Given the description of an element on the screen output the (x, y) to click on. 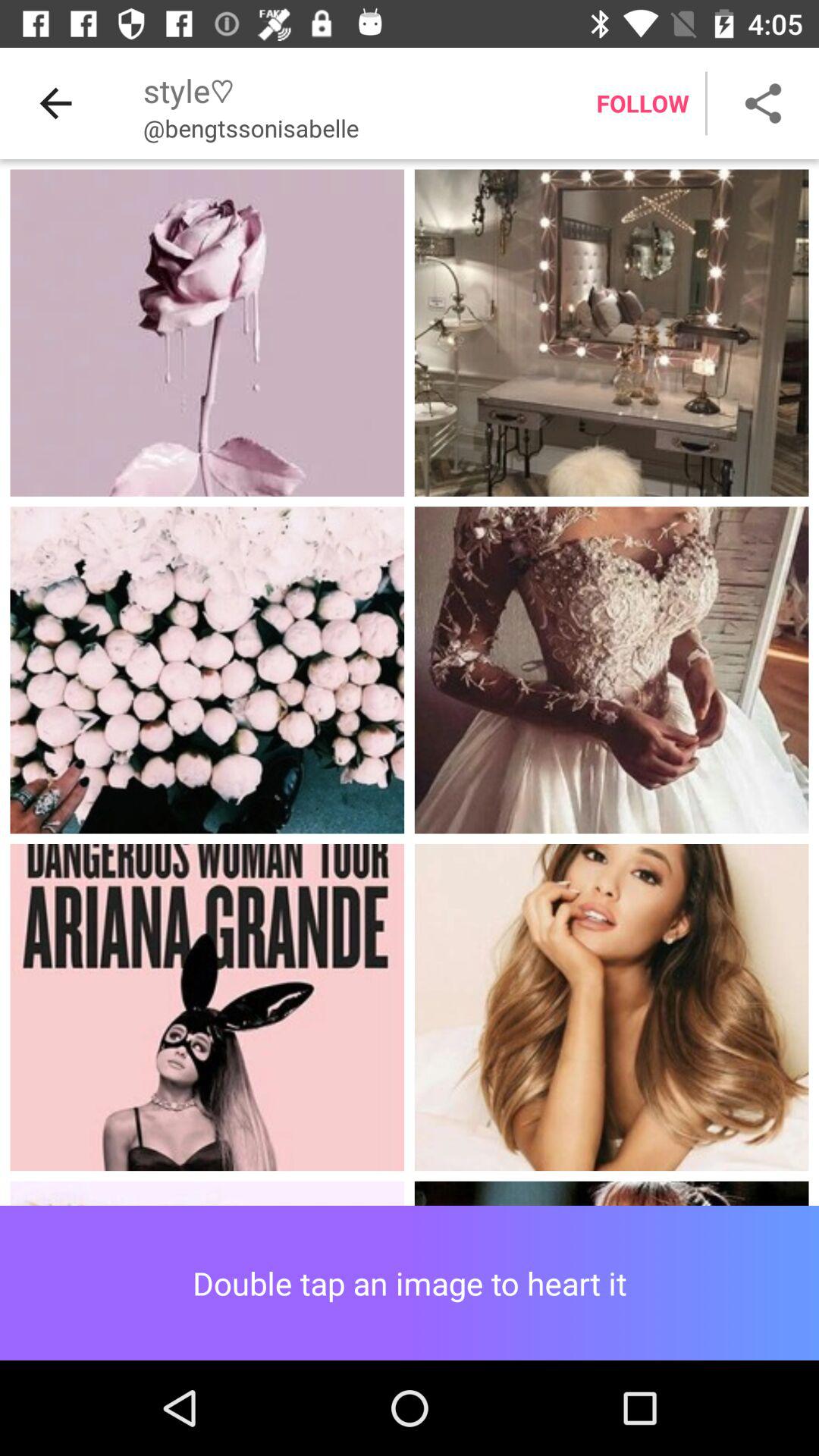
select share button which is on the top right corner of page (763, 103)
go to first option in first row (207, 333)
click on the text follow (643, 103)
